Given the description of an element on the screen output the (x, y) to click on. 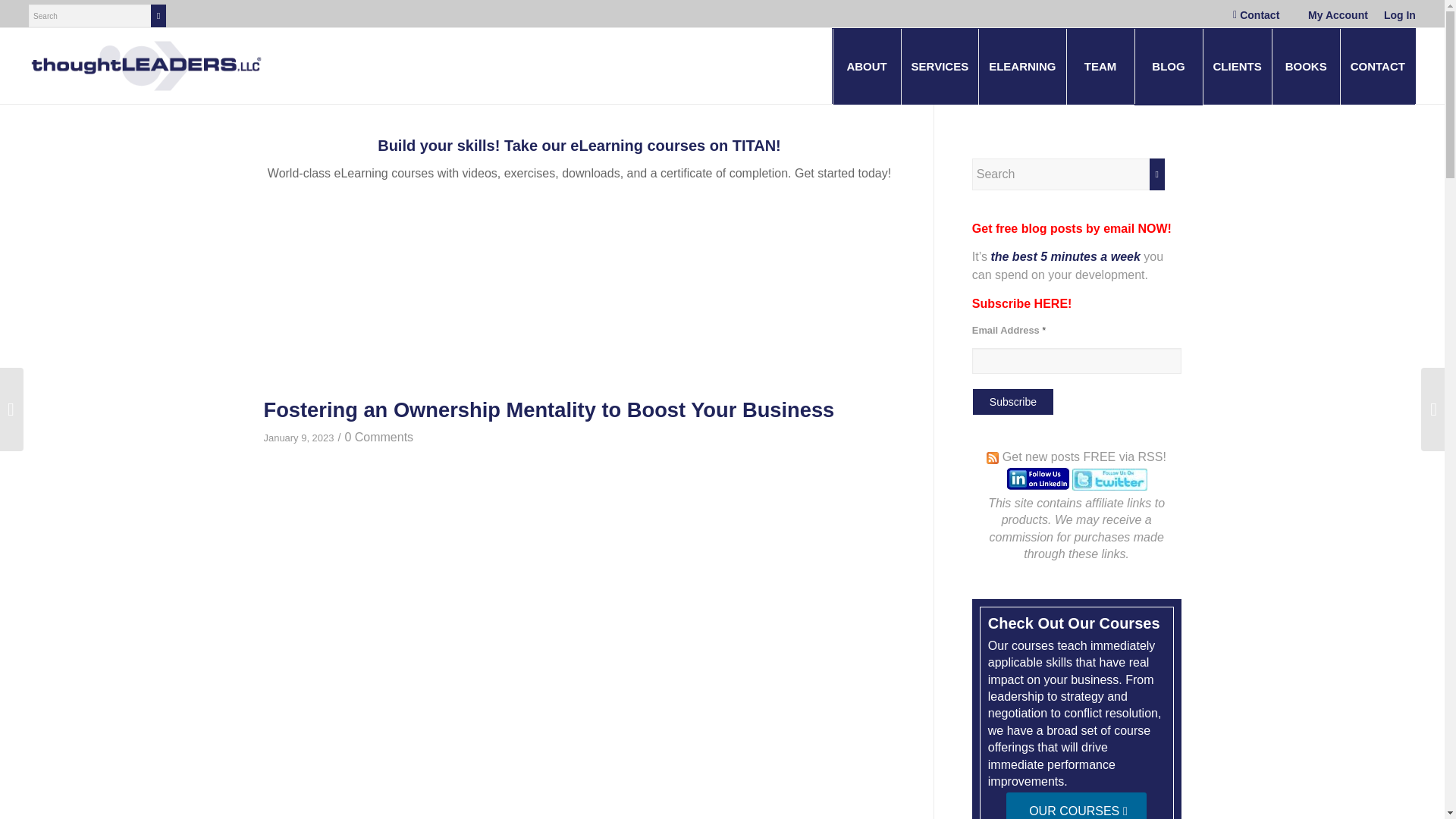
Subscribe (1012, 401)
My Account (1337, 15)
CLIENTS (1236, 66)
TEAM (1099, 66)
ABOUT (866, 66)
Get new posts FREE via RSS! (1084, 456)
Contact (1259, 15)
SERVICES (939, 66)
BOOKS (1305, 66)
BLOG (1168, 66)
